Given the description of an element on the screen output the (x, y) to click on. 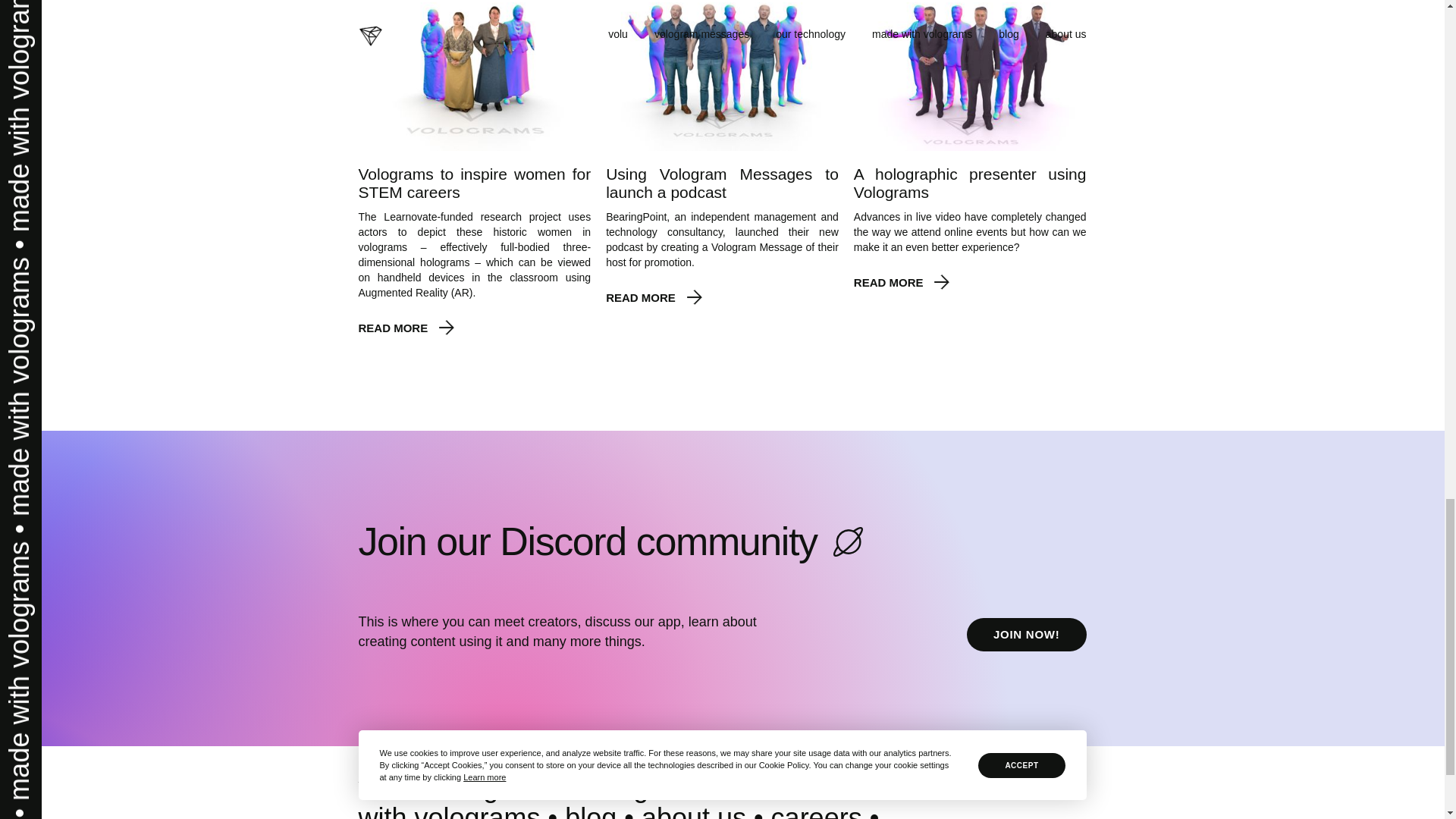
vologram messages (554, 787)
volu (382, 787)
our tech (750, 787)
JOIN NOW! (1026, 634)
